Given the description of an element on the screen output the (x, y) to click on. 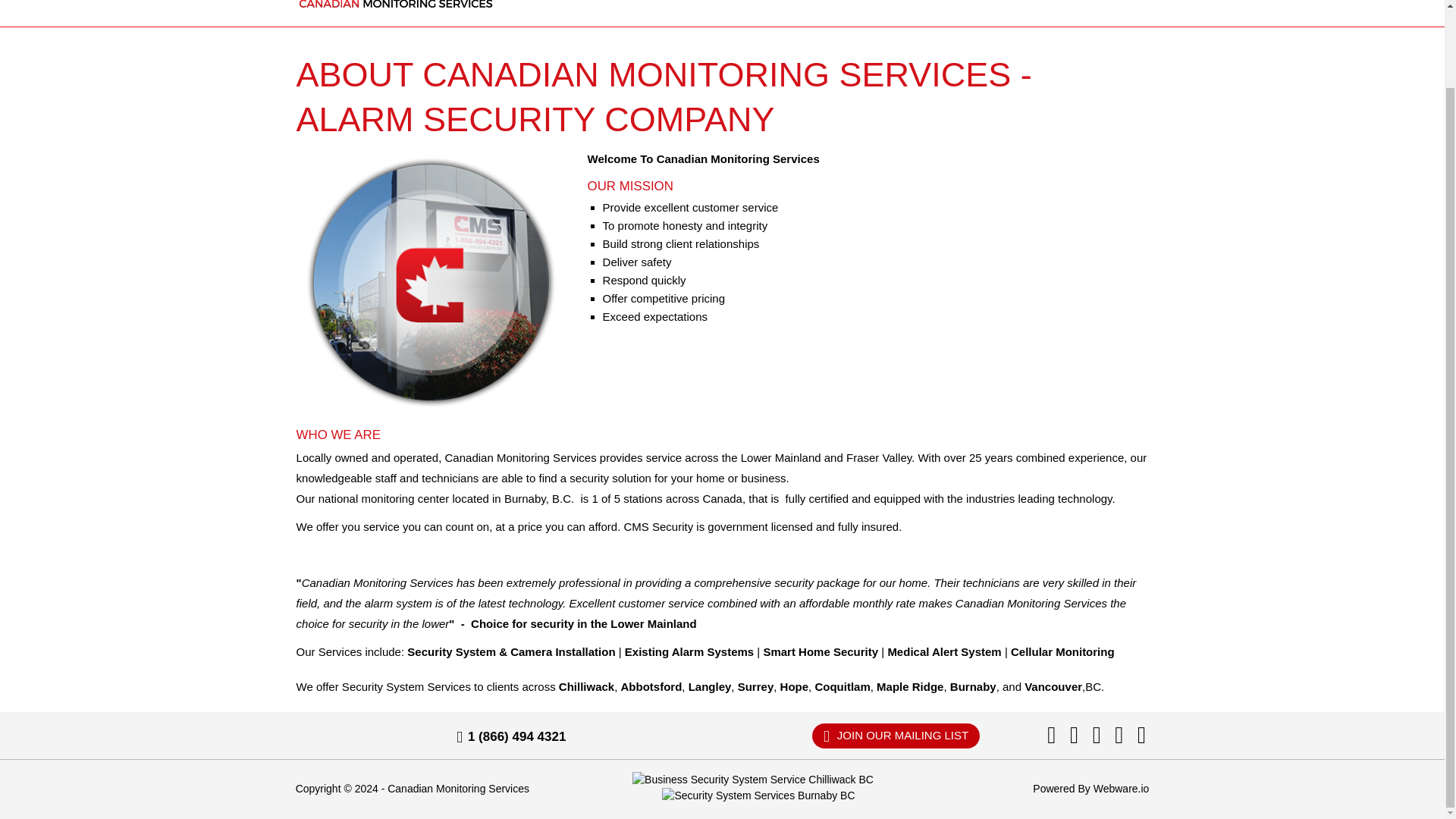
OUR SERVICES (773, 2)
Cellular Monitoring (1062, 651)
CONTACT US (1111, 2)
Coquitlam (841, 686)
HOME (632, 2)
Hope (794, 686)
Abbotsford (650, 686)
Existing Alarm Systems (689, 651)
FAQ (961, 2)
REVIEWS (1005, 2)
Chilliwack (586, 686)
ABOUT US (685, 2)
SERVICE AREAS (887, 2)
Smart Home Security (819, 651)
Medical Alert System (943, 651)
